Given the description of an element on the screen output the (x, y) to click on. 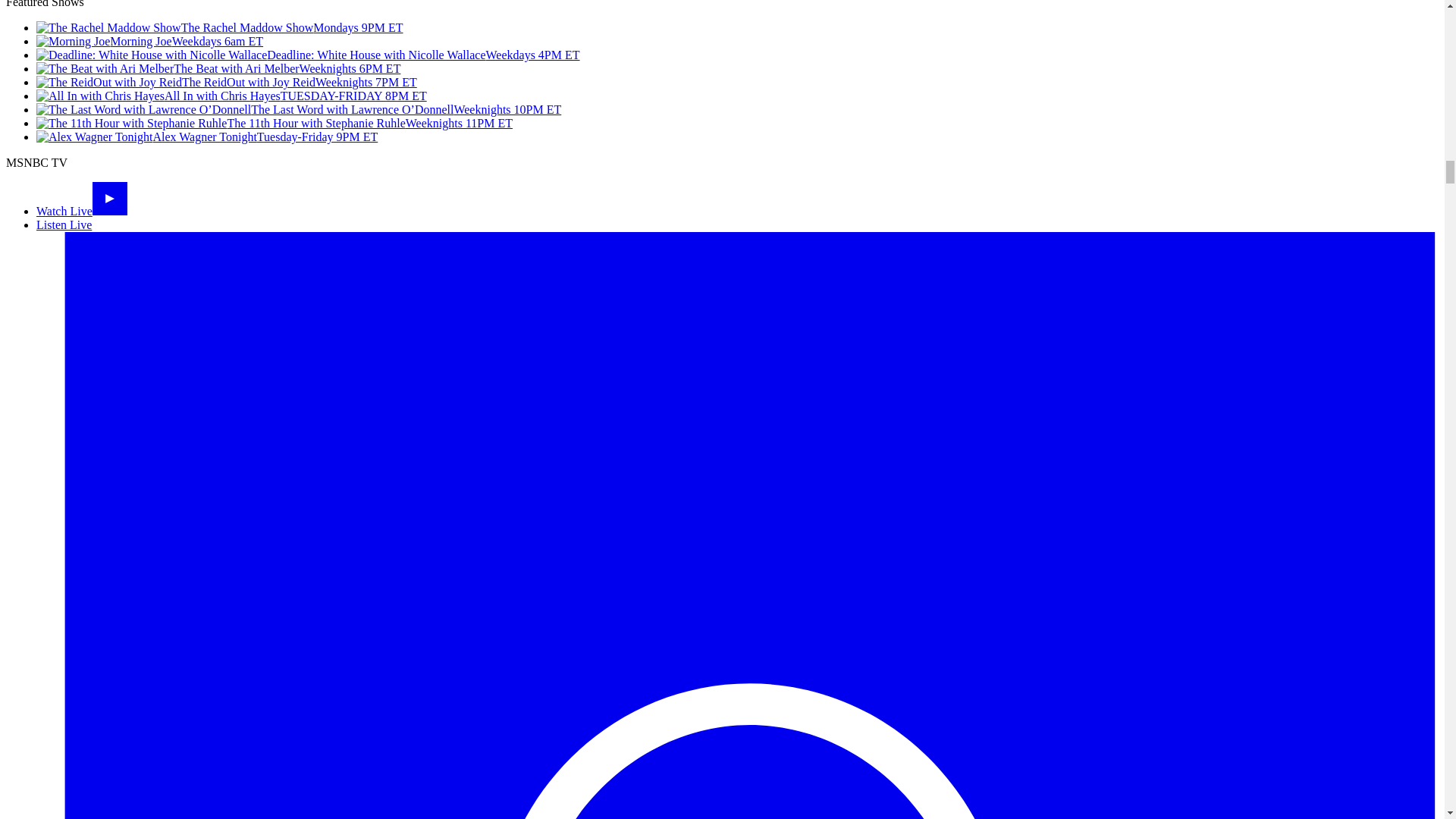
The ReidOut with Joy ReidWeeknights 7PM ET (226, 82)
The Rachel Maddow ShowMondays 9PM ET (219, 27)
Alex Wagner TonightTuesday-Friday 9PM ET (206, 136)
The Beat with Ari MelberWeeknights 6PM ET (218, 68)
Deadline: White House with Nicolle WallaceWeekdays 4PM ET (307, 54)
Morning JoeWeekdays 6am ET (149, 41)
The 11th Hour with Stephanie RuhleWeeknights 11PM ET (274, 123)
Watch Live (82, 210)
All In with Chris HayesTUESDAY-FRIDAY 8PM ET (231, 95)
